Given the description of an element on the screen output the (x, y) to click on. 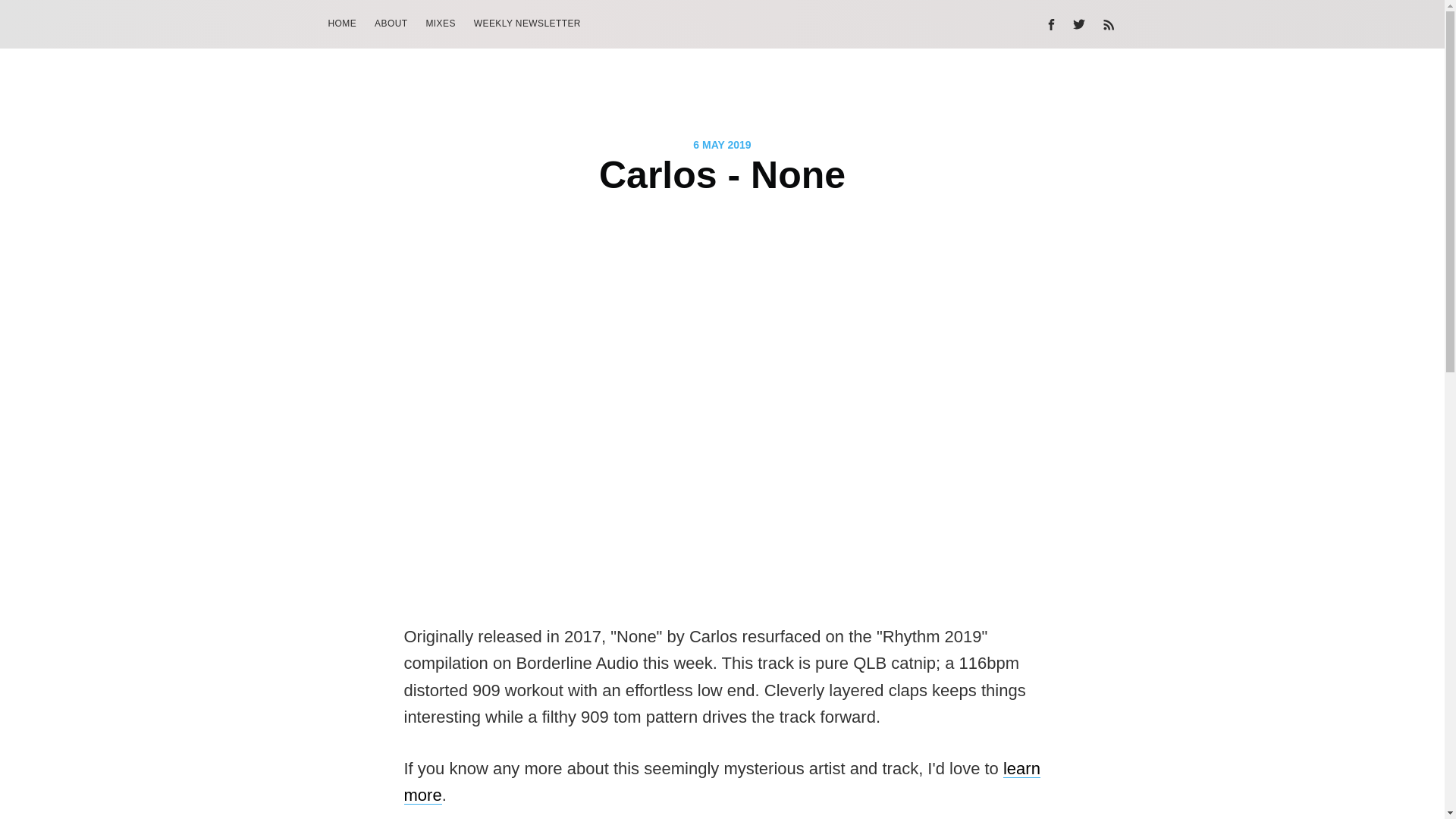
MIXES (440, 23)
Facebook (1050, 23)
learn more (721, 781)
ABOUT (390, 23)
HOME (341, 23)
Twitter (1082, 23)
WEEKLY NEWSLETTER (526, 23)
